Given the description of an element on the screen output the (x, y) to click on. 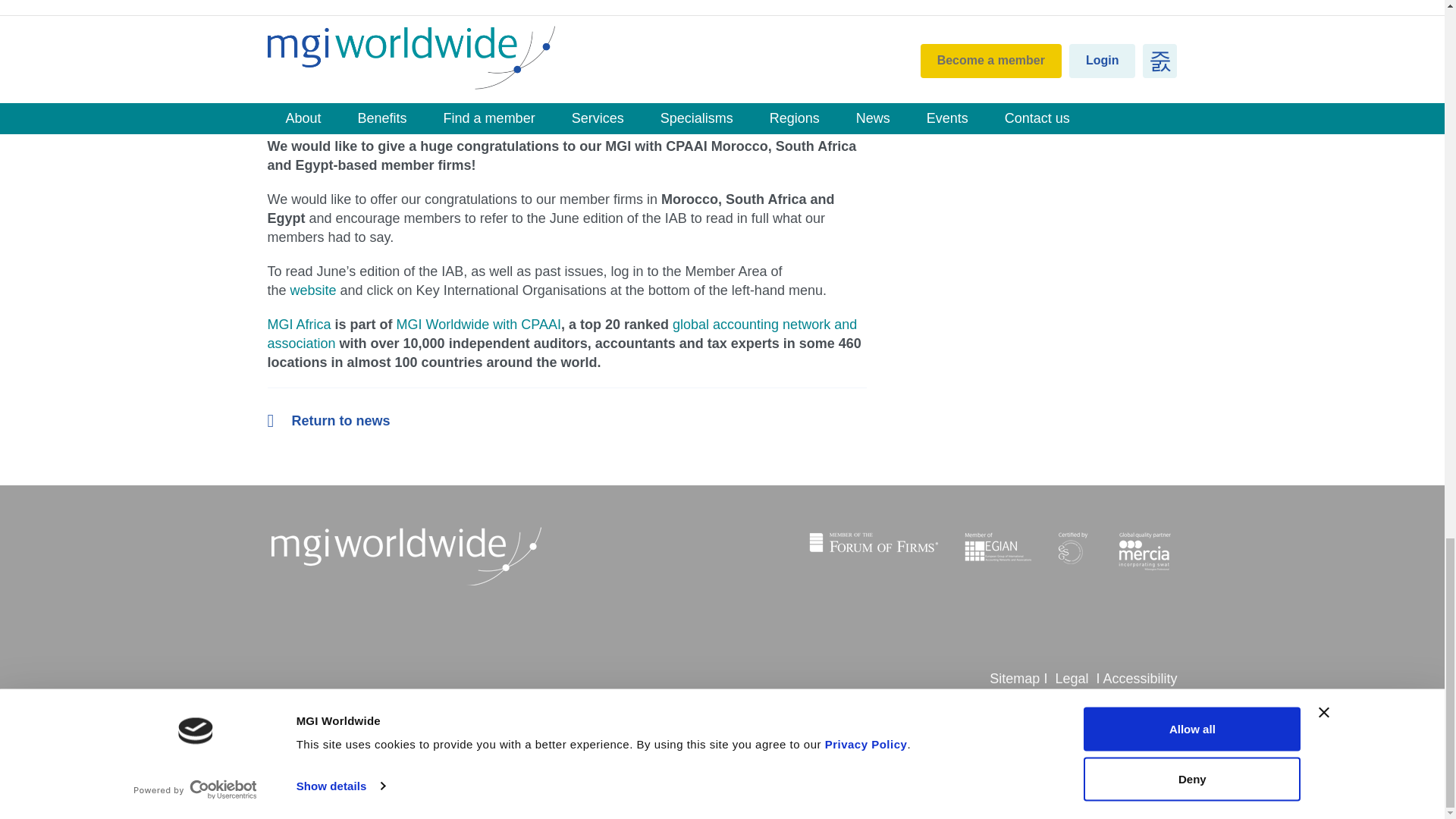
Twitter (363, 713)
Youtube (392, 713)
Instagram (306, 713)
